Given the description of an element on the screen output the (x, y) to click on. 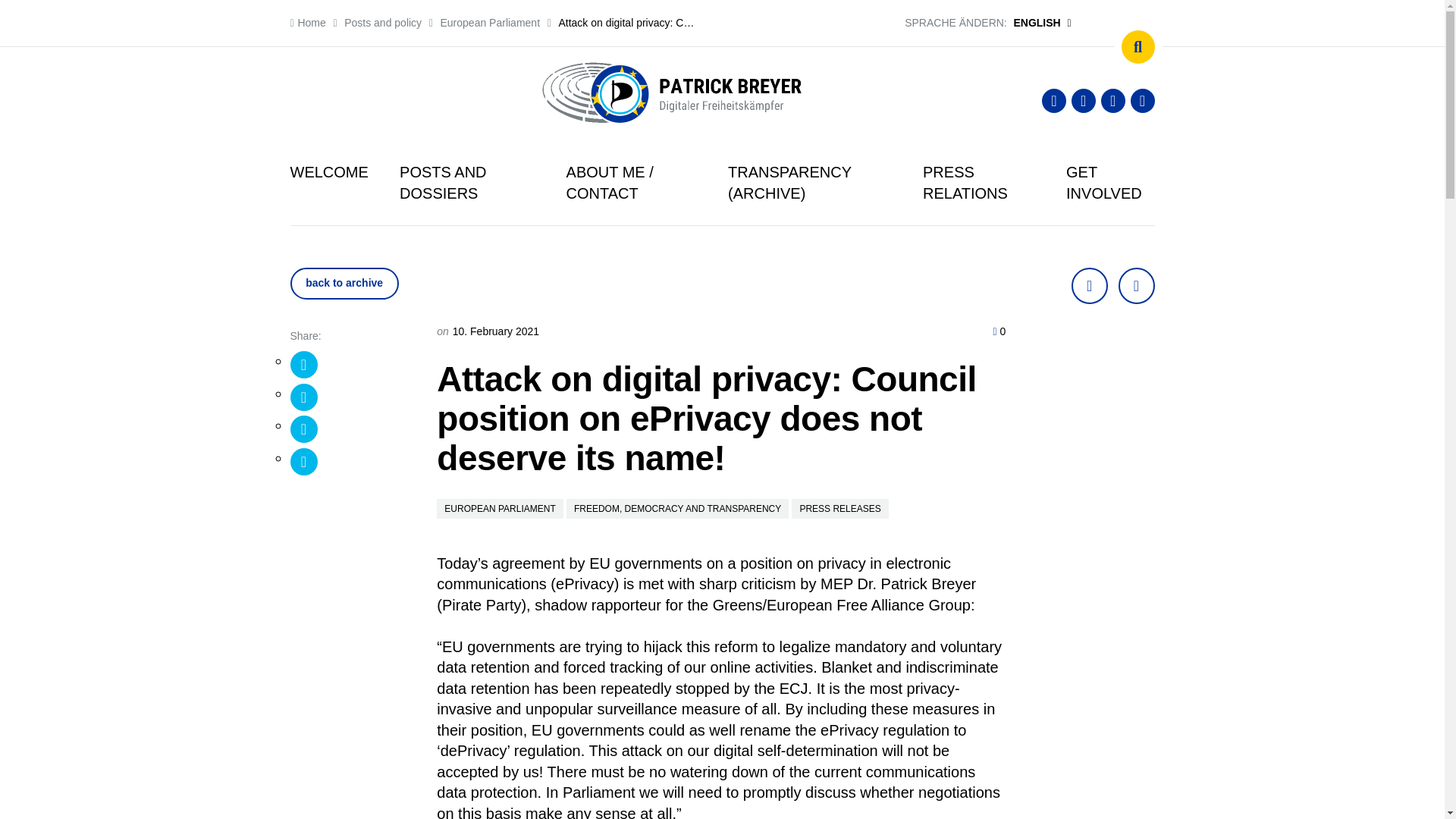
Go to Posts and policy. (382, 22)
Go to Patrick Breyer. (306, 22)
Home (306, 22)
Posts and policy (382, 22)
European Parliament (489, 22)
POSTS AND DOSSIERS (466, 182)
WELCOME (328, 172)
PRESS RELATIONS (979, 182)
